Given the description of an element on the screen output the (x, y) to click on. 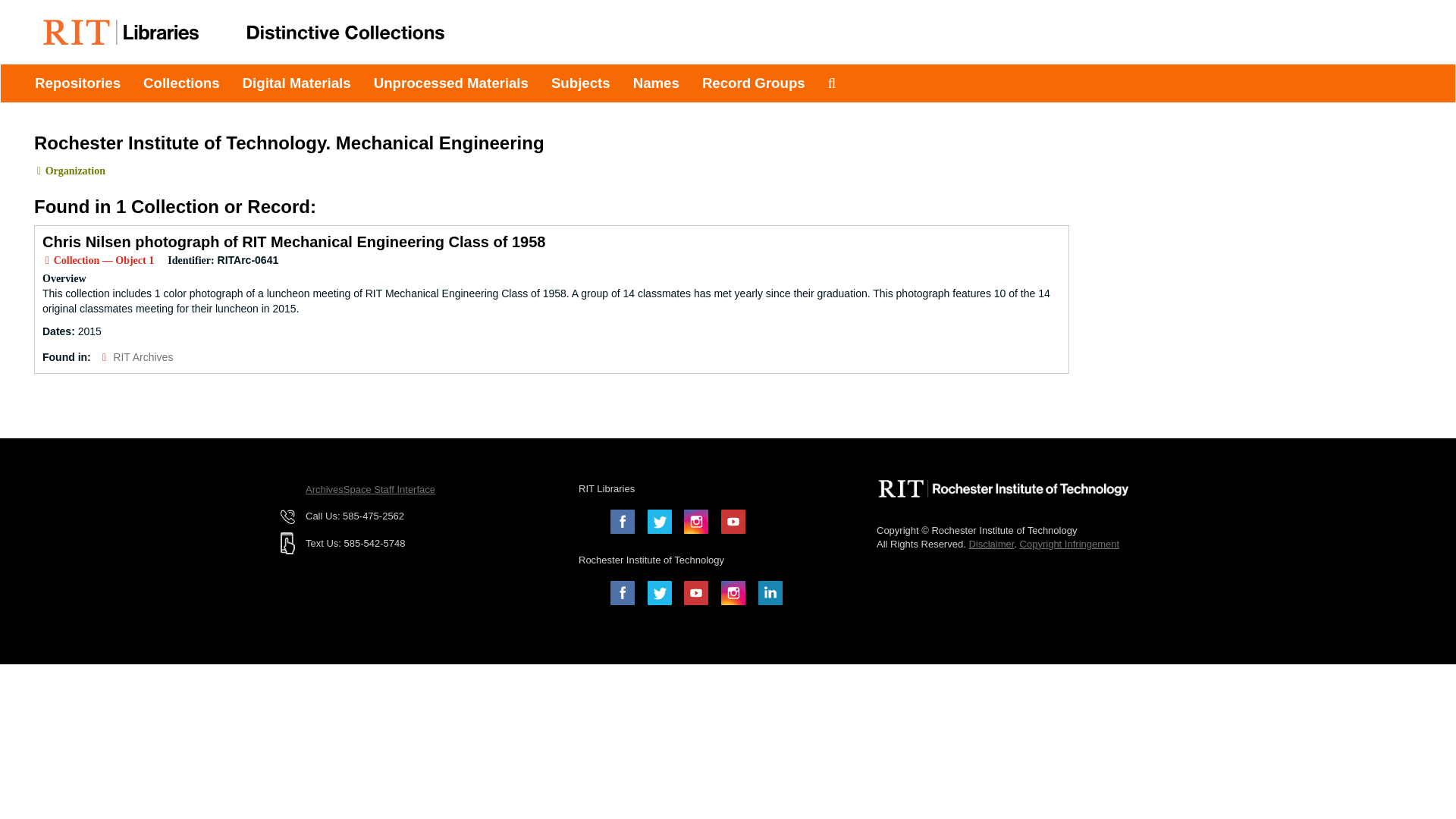
Disclaimer (990, 543)
Digital Materials (296, 83)
Subjects (580, 83)
Record Groups (753, 83)
Unprocessed Materials (451, 83)
ArchivesSpace Staff Interface (370, 489)
RIT Archives (143, 357)
Names (655, 83)
Page Actions (1139, 125)
Collections (181, 83)
Repositories (77, 83)
Copyright Infringement (1069, 543)
